Given the description of an element on the screen output the (x, y) to click on. 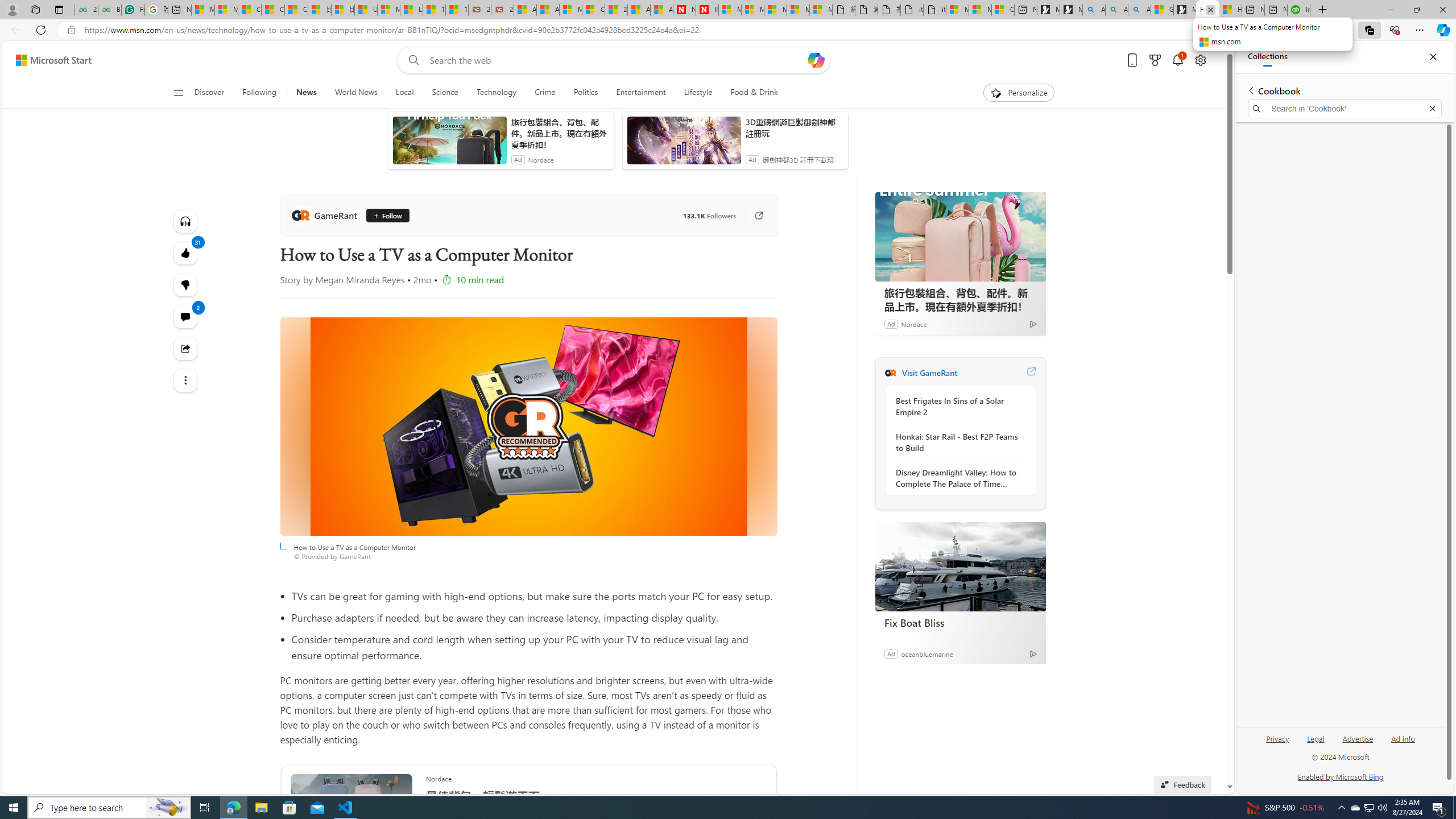
World News (355, 92)
Politics (585, 92)
Lifestyle (697, 92)
Class: at-item (184, 380)
Open navigation menu (177, 92)
Science (444, 92)
Local (404, 92)
